Given the description of an element on the screen output the (x, y) to click on. 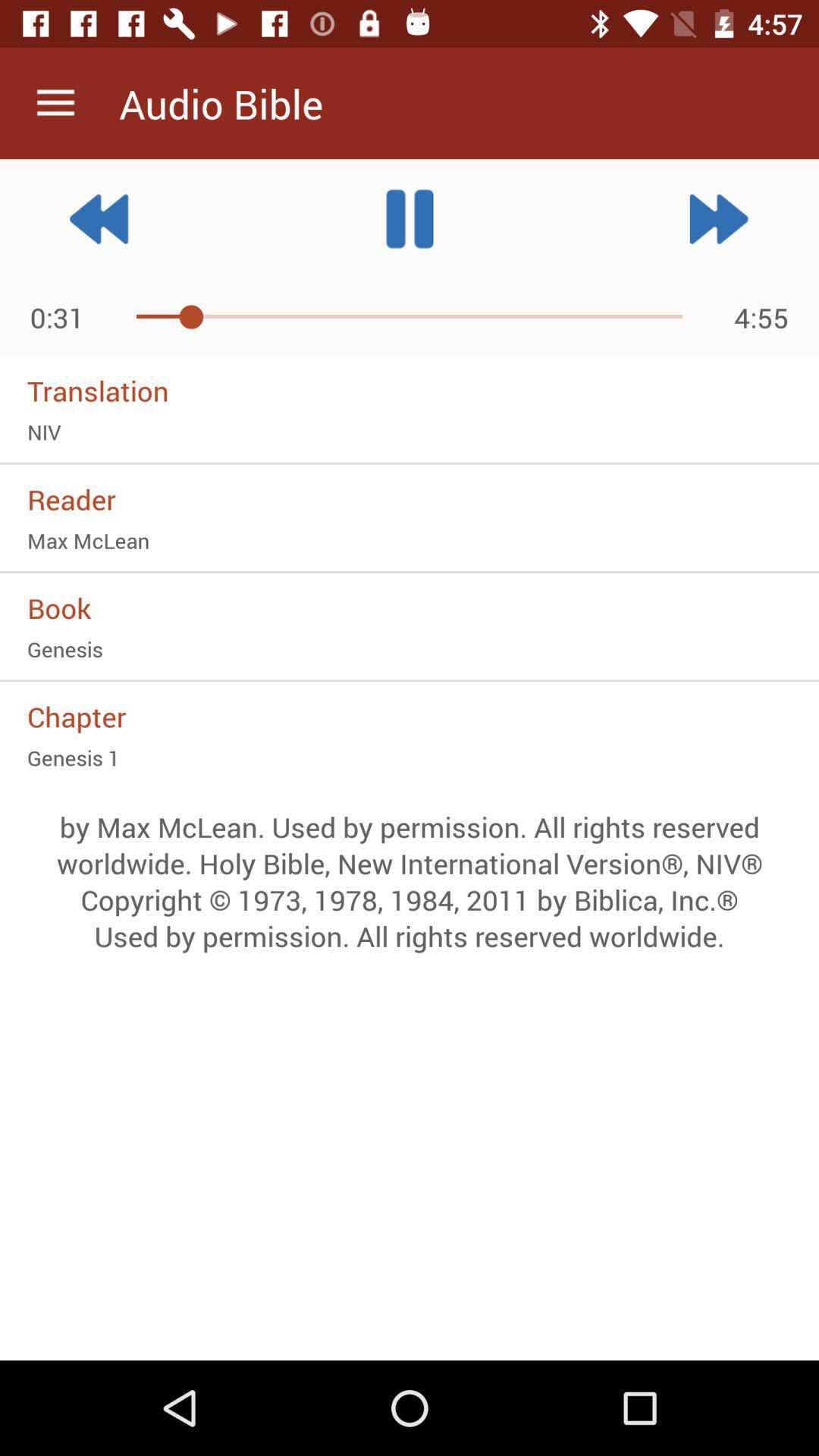
turn off item above the 4:55 icon (719, 218)
